Given the description of an element on the screen output the (x, y) to click on. 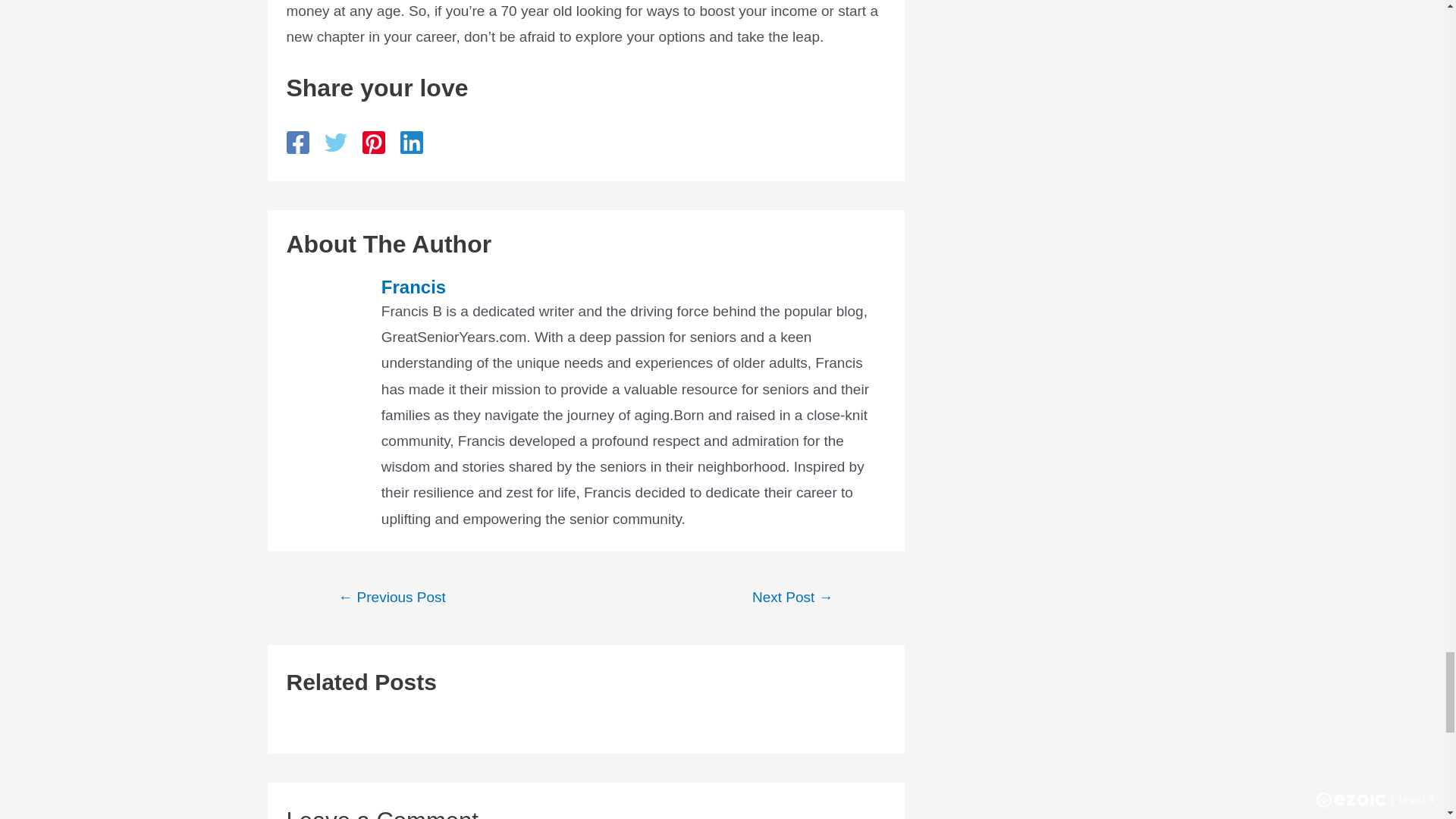
Best Healthy Eating Plan for Weight Loss (392, 598)
Best Painting for Bedroom (793, 598)
